Given the description of an element on the screen output the (x, y) to click on. 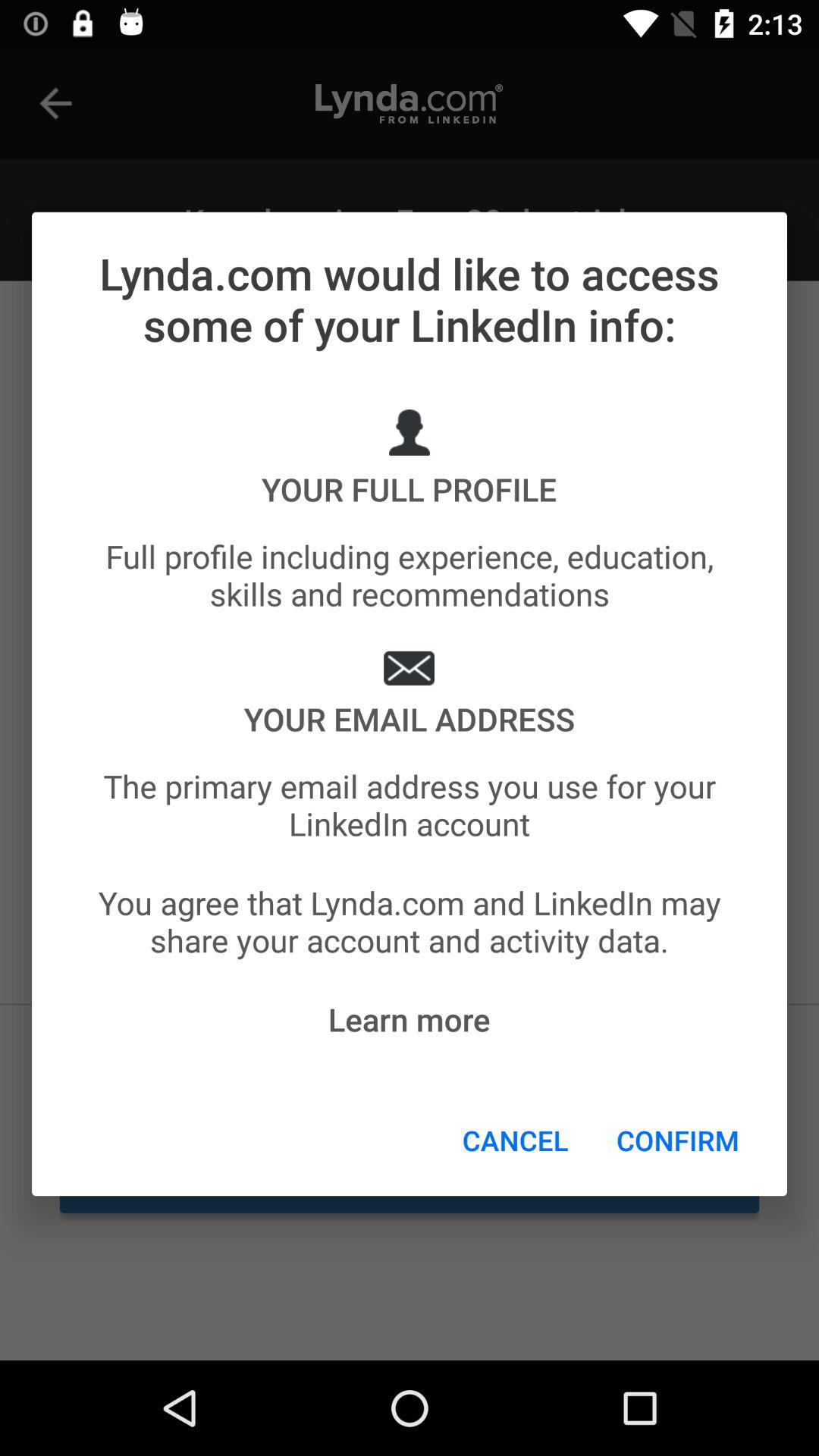
turn on the icon next to the confirm item (515, 1140)
